Given the description of an element on the screen output the (x, y) to click on. 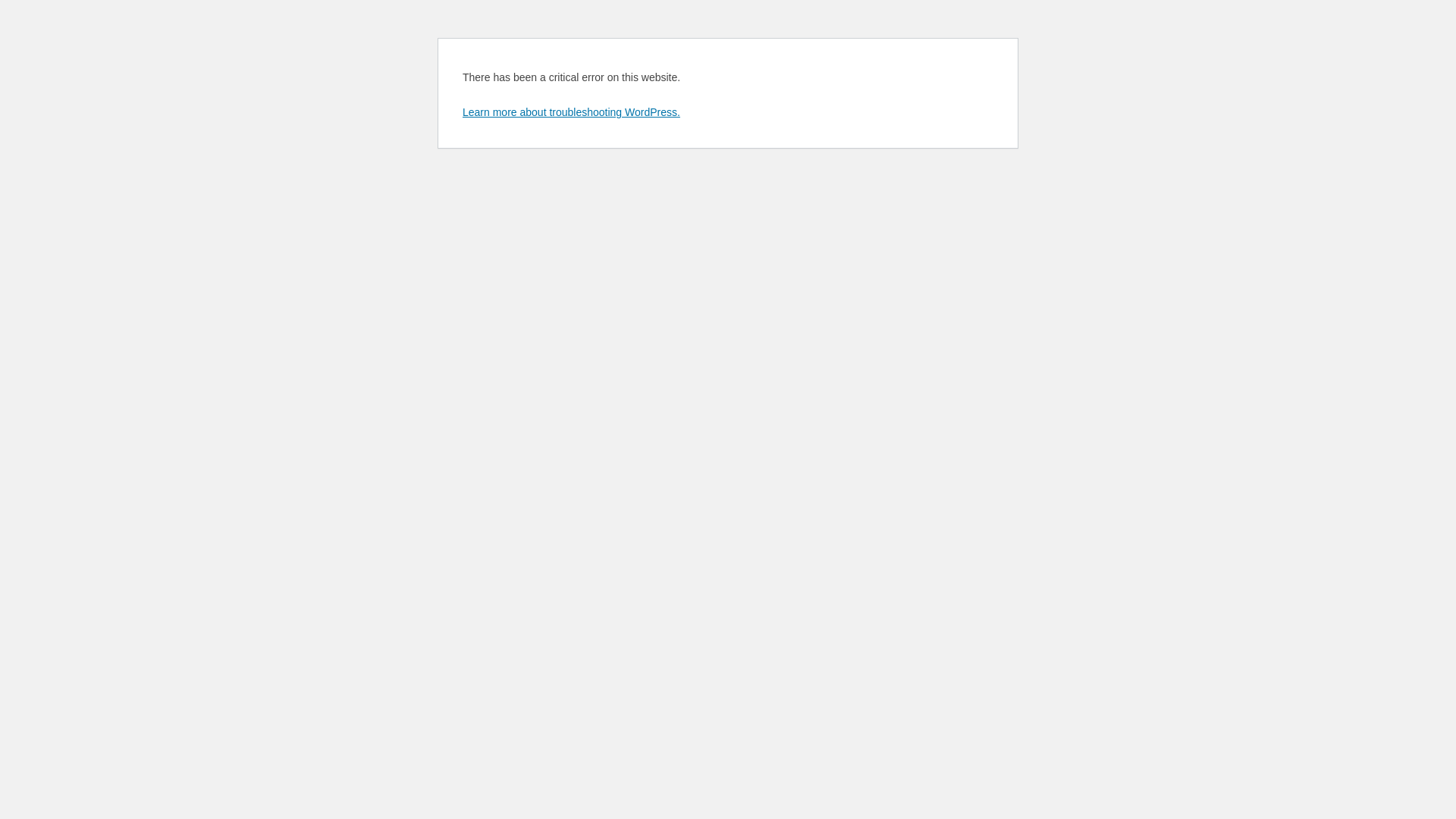
Learn more about troubleshooting WordPress. Element type: text (571, 112)
